Given the description of an element on the screen output the (x, y) to click on. 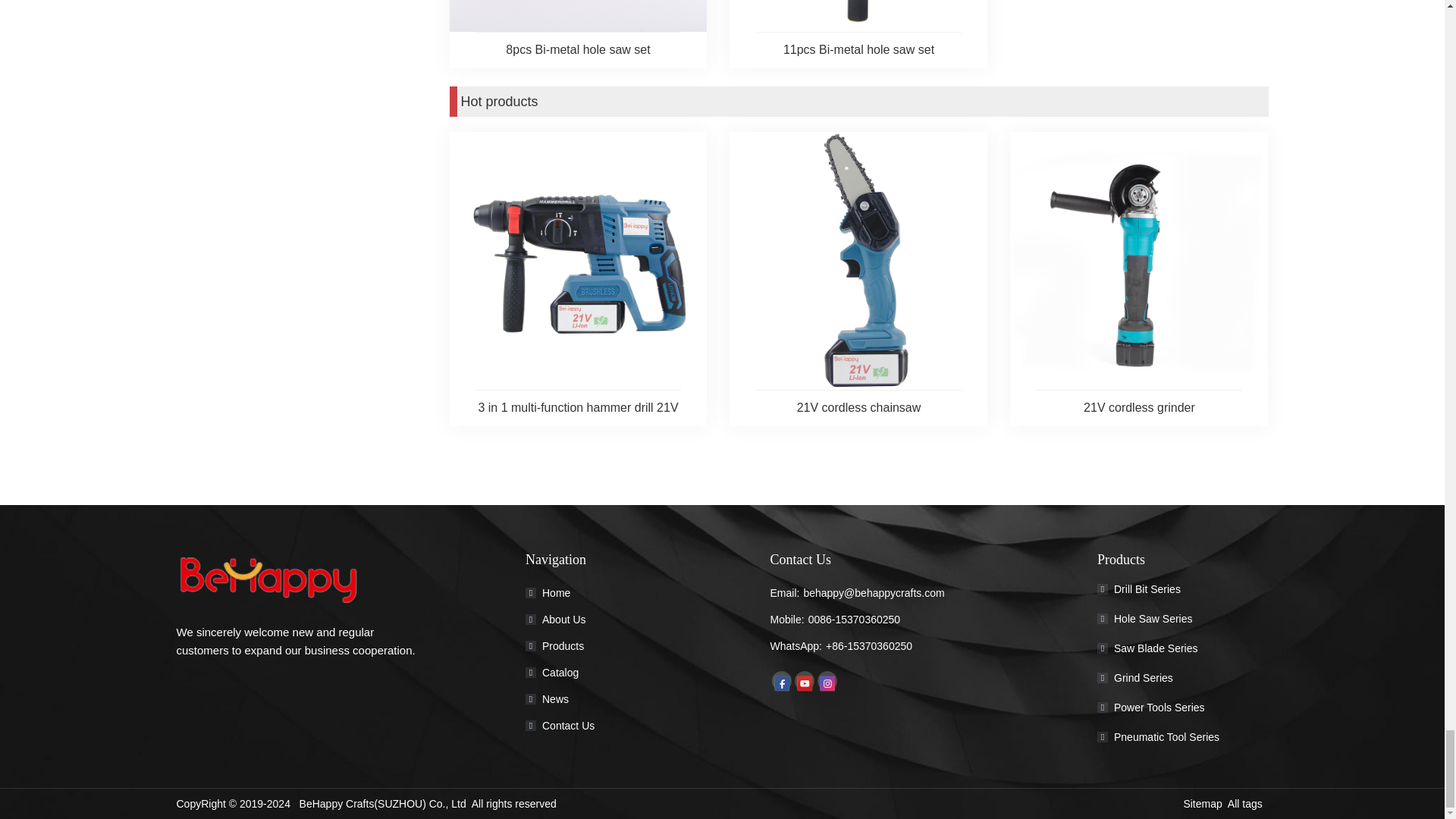
3 in 1 multi-function hammer drill 21V (577, 407)
8pcs Bi-metal hole saw set (577, 49)
11pcs Bi-metal hole saw set (858, 49)
